Given the description of an element on the screen output the (x, y) to click on. 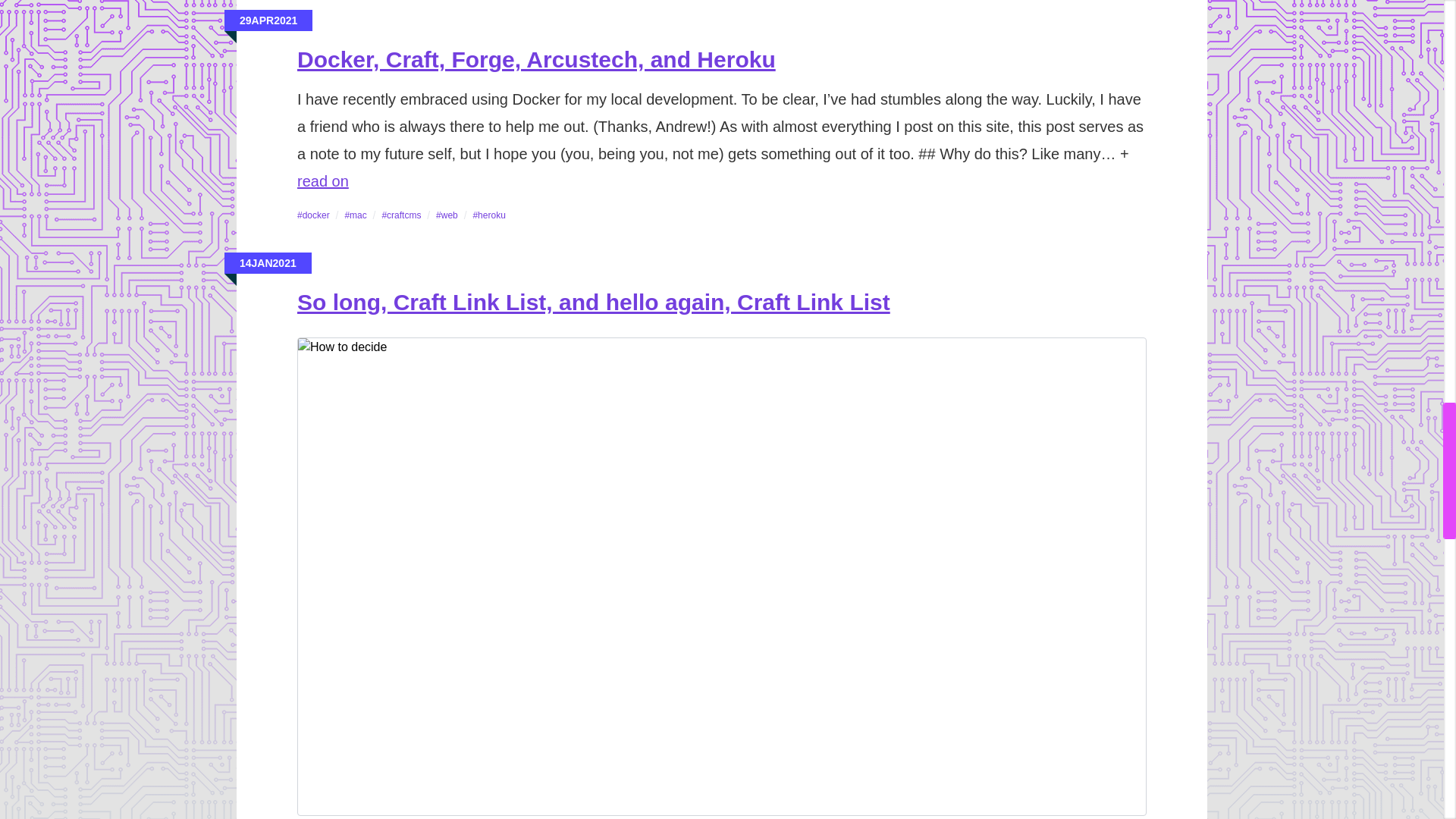
Docker, Craft, Forge, Arcustech, and Heroku (323, 180)
Docker, Craft, Forge, Arcustech, and Heroku (536, 59)
So long, Craft Link List, and hello again, Craft Link List (593, 301)
read on (323, 180)
